Given the description of an element on the screen output the (x, y) to click on. 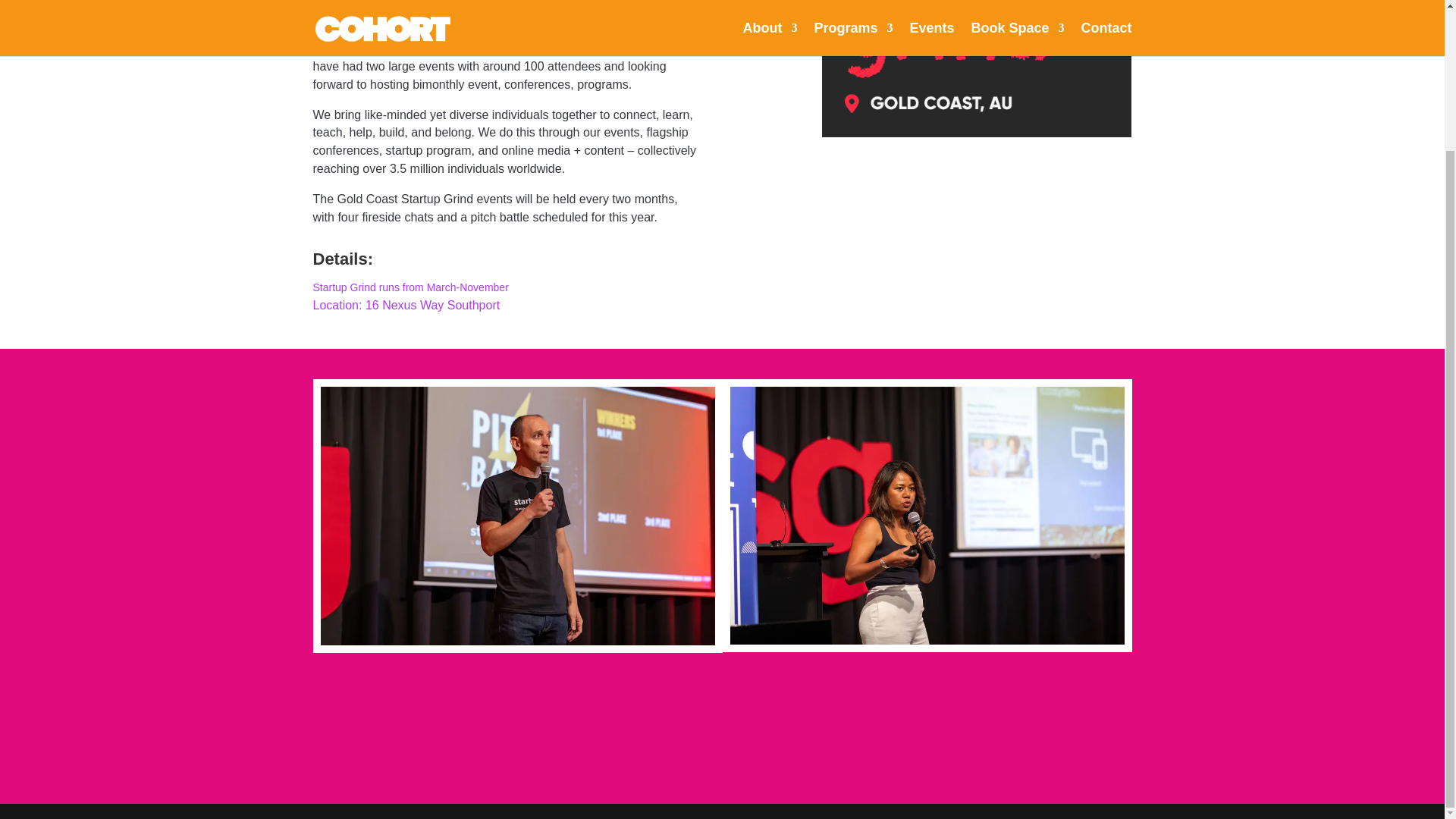
Asset 2 (976, 57)
